Given the description of an element on the screen output the (x, y) to click on. 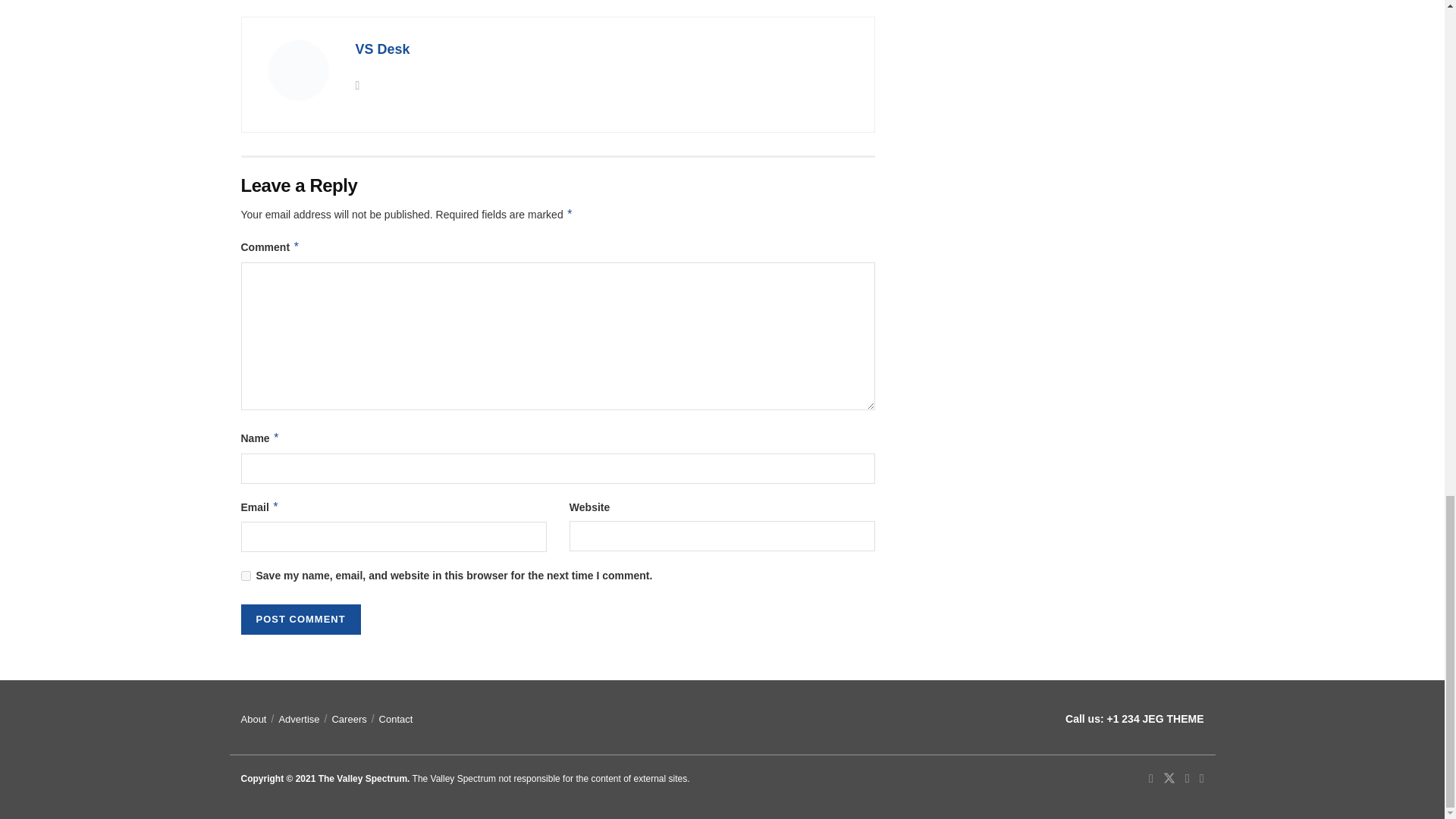
The Valley Spectrum (362, 778)
Post Comment (301, 619)
yes (245, 575)
